Given the description of an element on the screen output the (x, y) to click on. 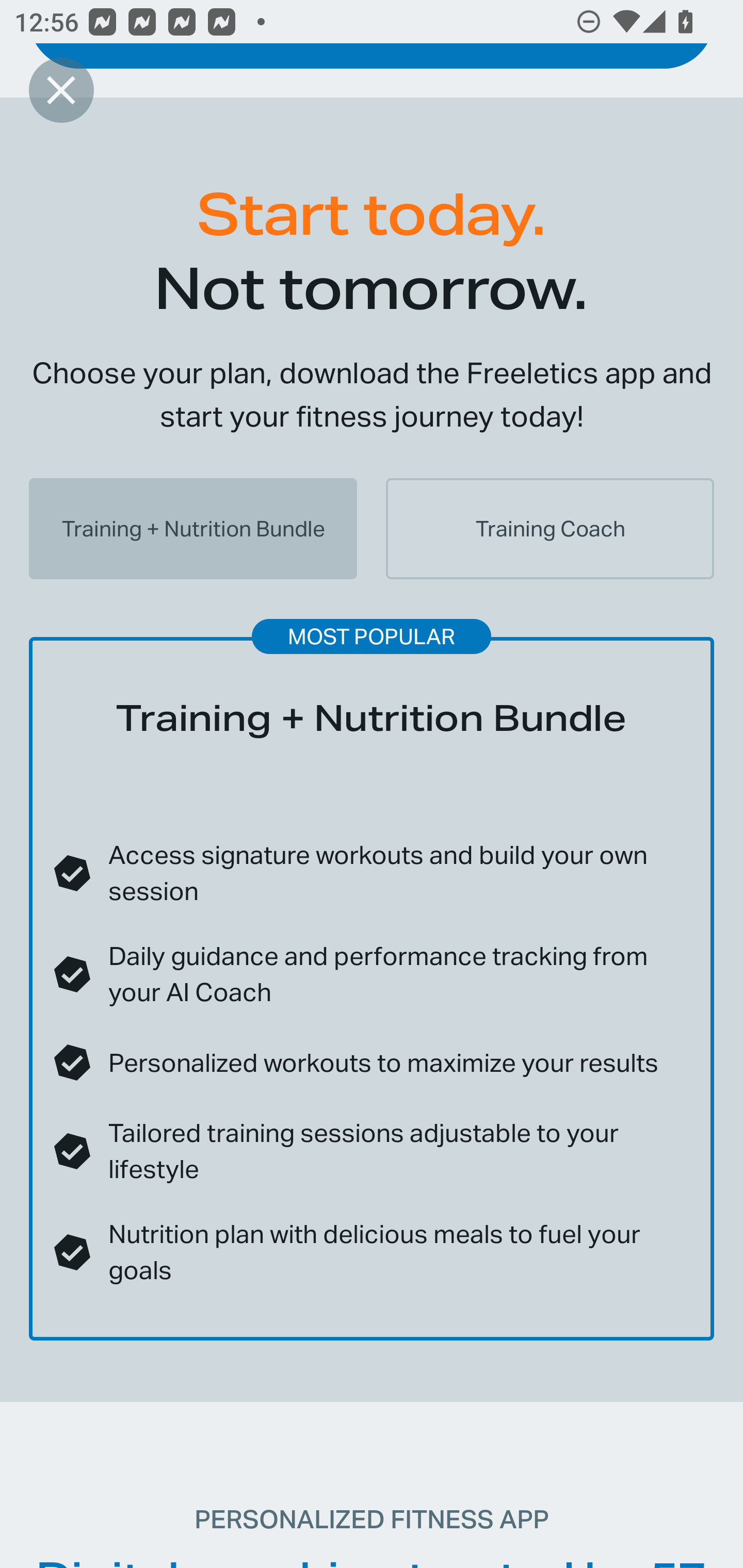
Close (60, 90)
Training + Nutrition Bundle (192, 528)
Training Coach (549, 528)
